Given the description of an element on the screen output the (x, y) to click on. 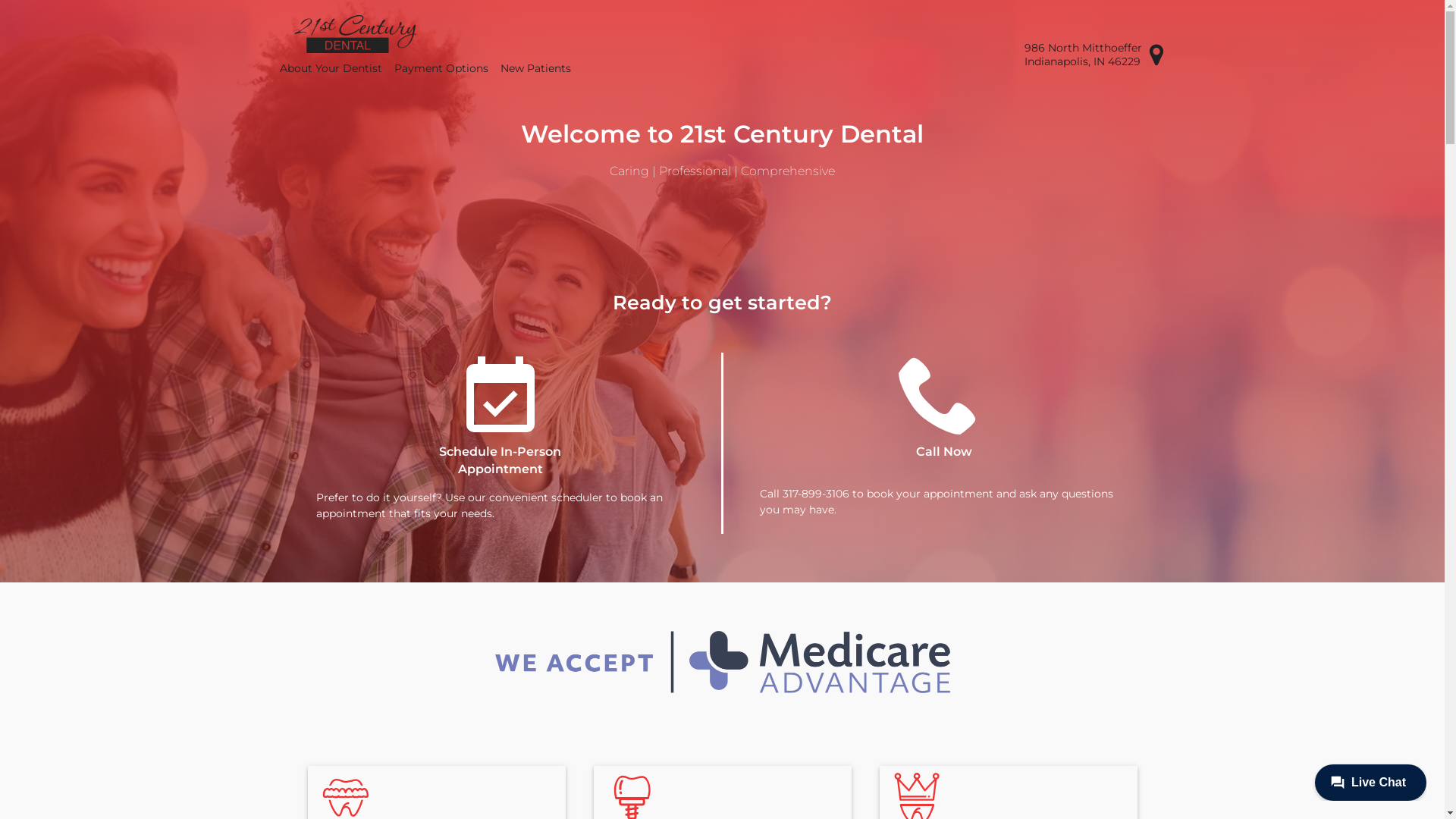
986 North Mitthoeffer
Indianapolis, IN 46229 Element type: text (1093, 54)
About Your Dentist Element type: text (330, 68)
New Patients Element type: text (535, 68)
Call Now Element type: text (944, 412)
Schedule In-Person Appointment Element type: text (499, 414)
Payment Options Element type: text (441, 68)
